Given the description of an element on the screen output the (x, y) to click on. 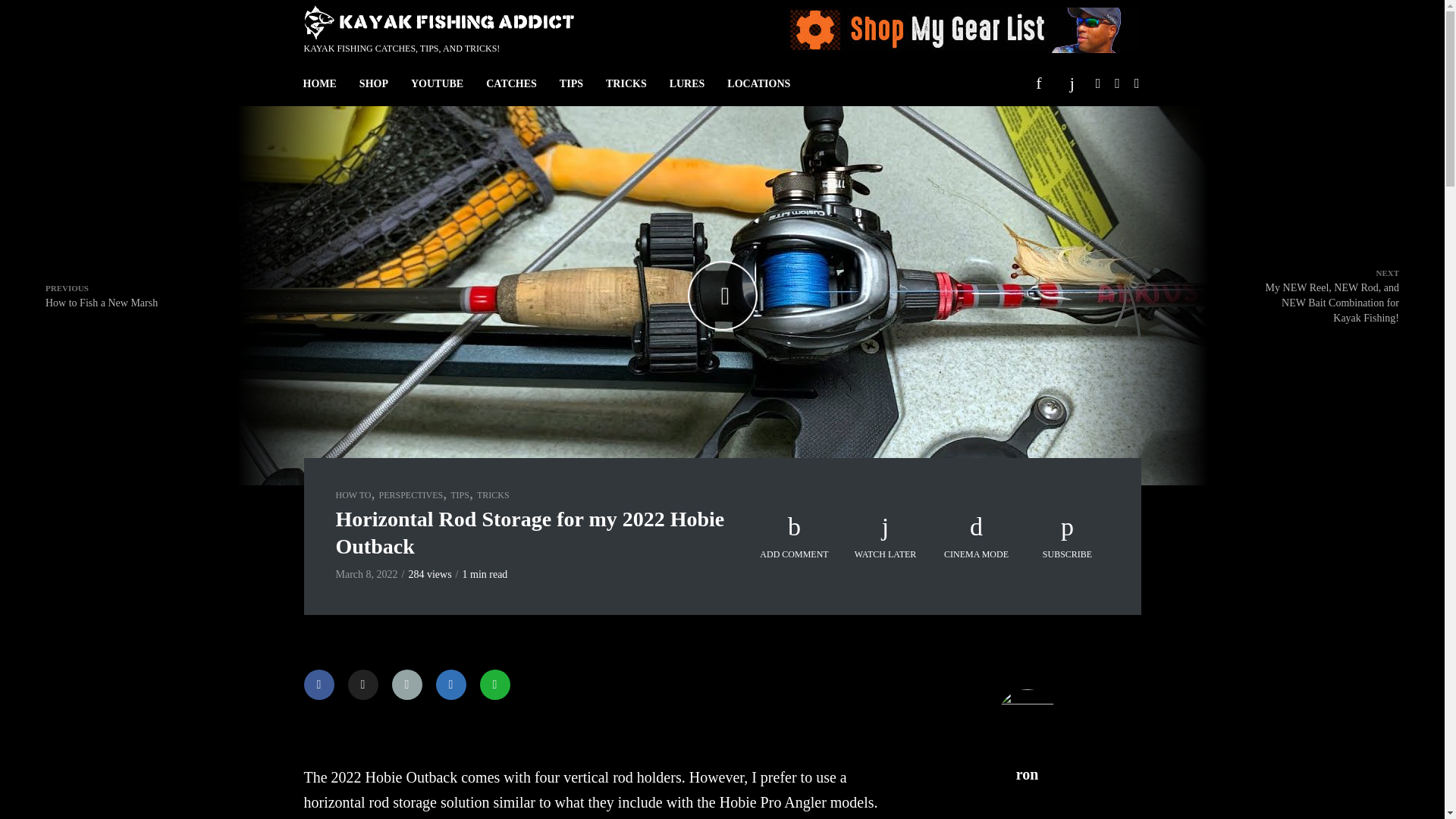
SHOP (372, 83)
LURES (687, 83)
TRICKS (626, 83)
HOME (319, 83)
YOUTUBE (436, 83)
TIPS (571, 83)
LOCATIONS (759, 83)
CATCHES (511, 83)
